Given the description of an element on the screen output the (x, y) to click on. 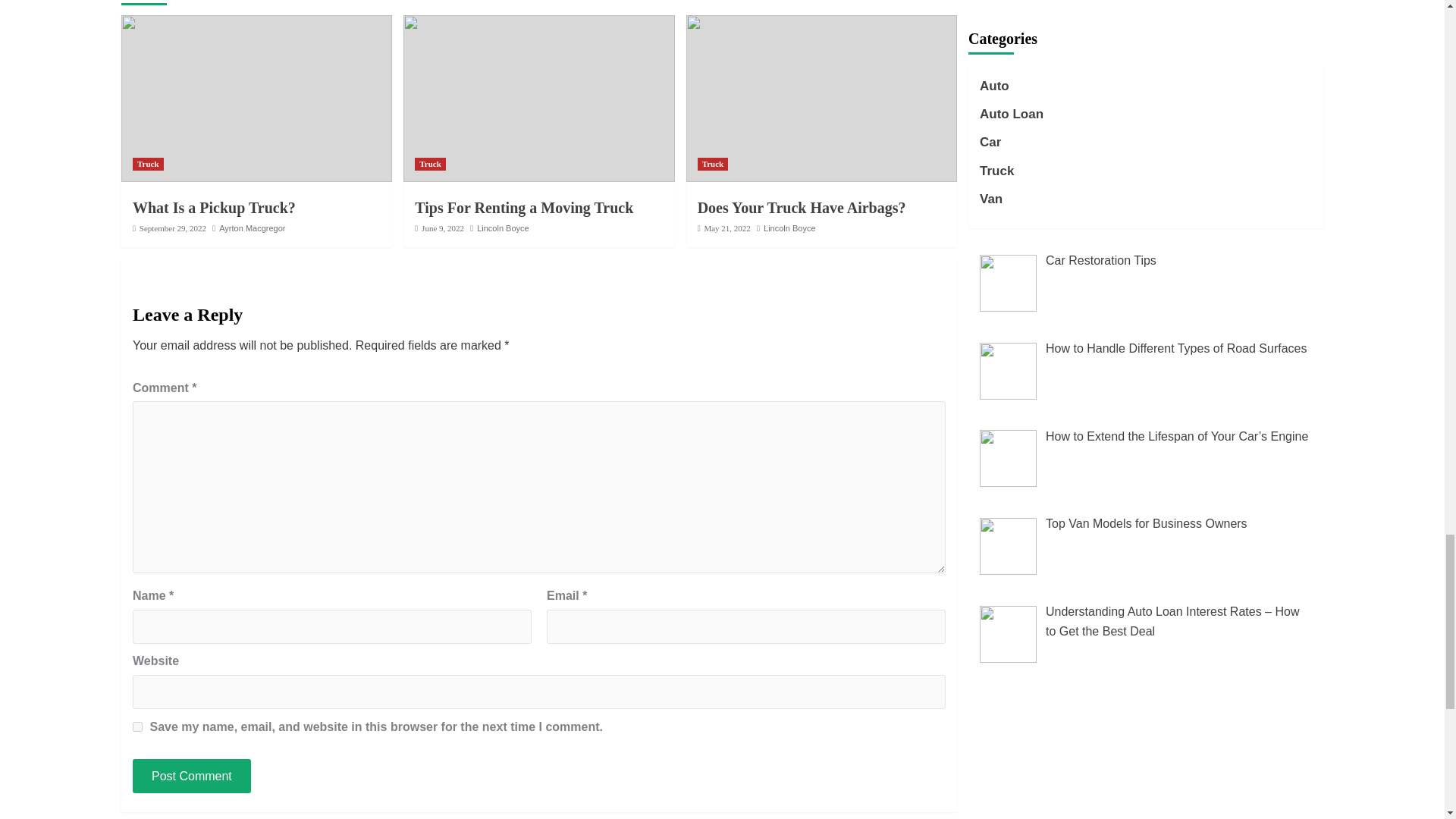
Does Your Truck Have Airbags? (801, 207)
Post Comment (191, 776)
Tips For Renting a Moving Truck (523, 207)
Truck (429, 164)
Truck (713, 164)
What Is a Pickup Truck? (213, 207)
May 21, 2022 (726, 227)
Lincoln Boyce (503, 227)
Lincoln Boyce (788, 227)
Ayrton Macgregor (252, 227)
